Given the description of an element on the screen output the (x, y) to click on. 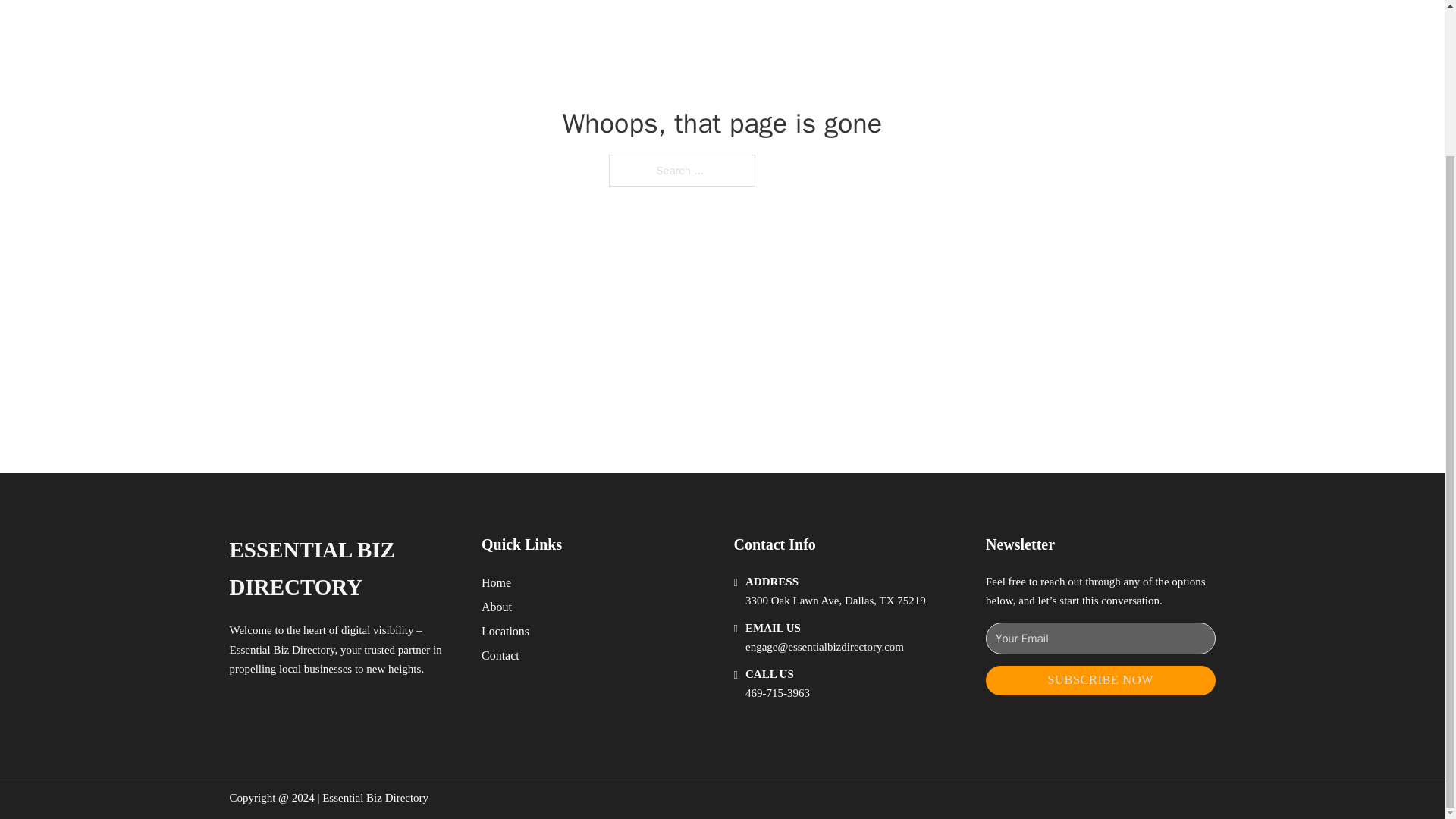
Locations (505, 630)
469-715-3963 (777, 693)
SUBSCRIBE NOW (1100, 680)
Home (496, 582)
About (496, 607)
ESSENTIAL BIZ DIRECTORY (343, 568)
Contact (500, 655)
